Given the description of an element on the screen output the (x, y) to click on. 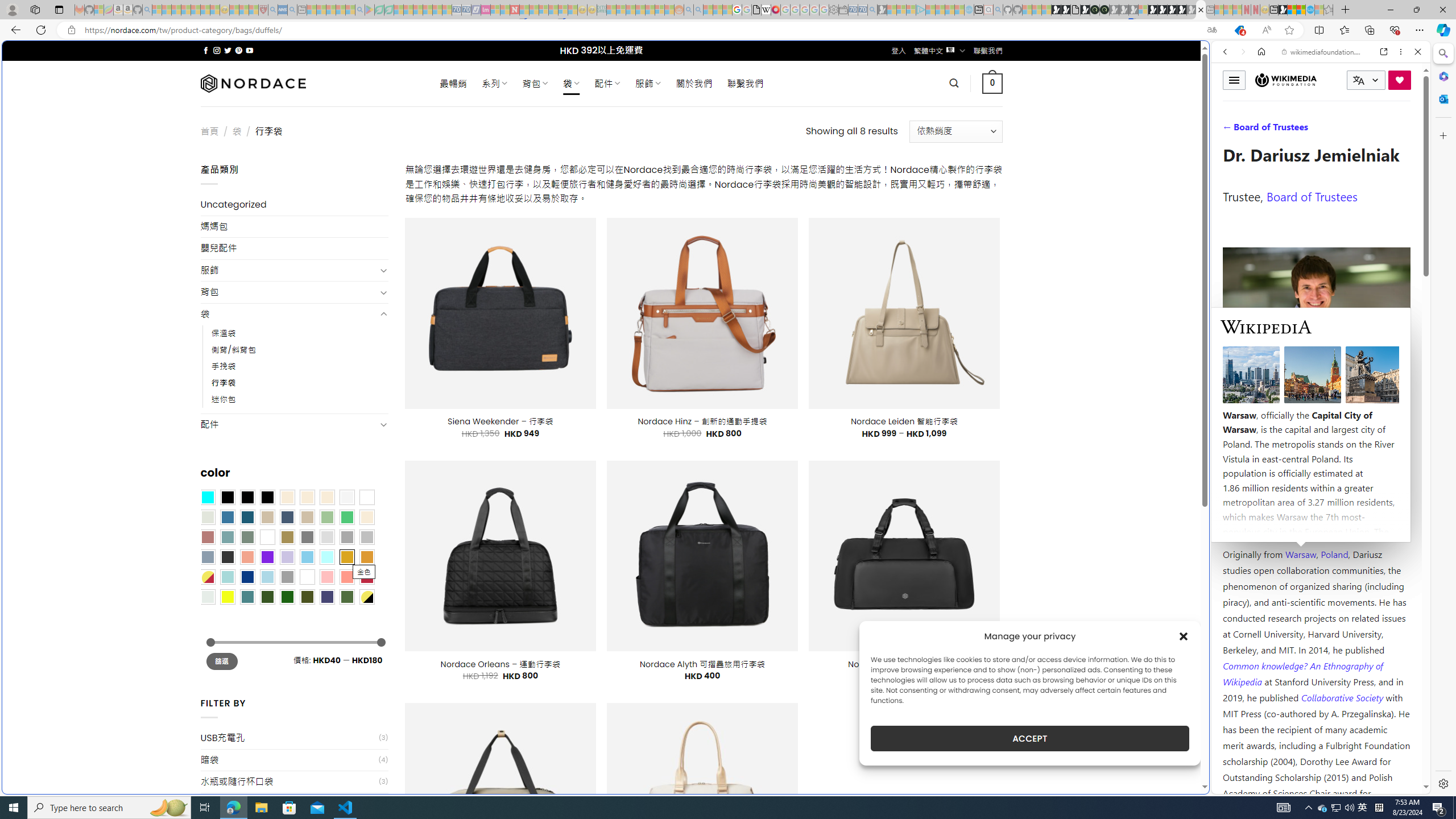
Uncategorized (294, 204)
utah sues federal government - Search - Sleeping (291, 9)
